Given the description of an element on the screen output the (x, y) to click on. 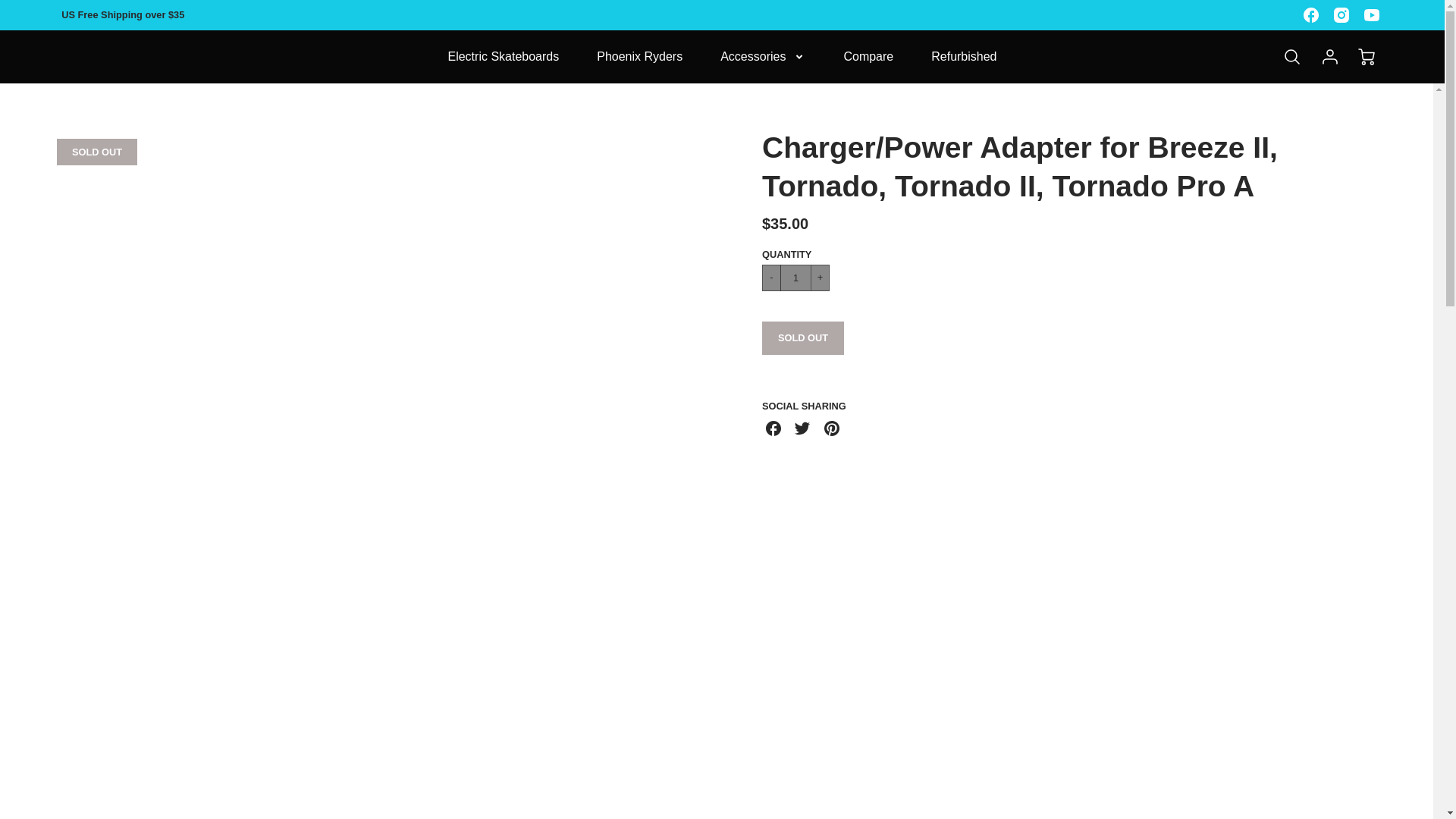
Refurbished (963, 57)
Accessories (762, 57)
Tweet on Twitter (804, 431)
Account Login (1330, 56)
Skatebolt on Instagram (1341, 15)
Skatebolt on Facebook (1311, 15)
1 (795, 277)
Share on Facebook (775, 431)
Cart (1368, 56)
Compare (868, 57)
